Given the description of an element on the screen output the (x, y) to click on. 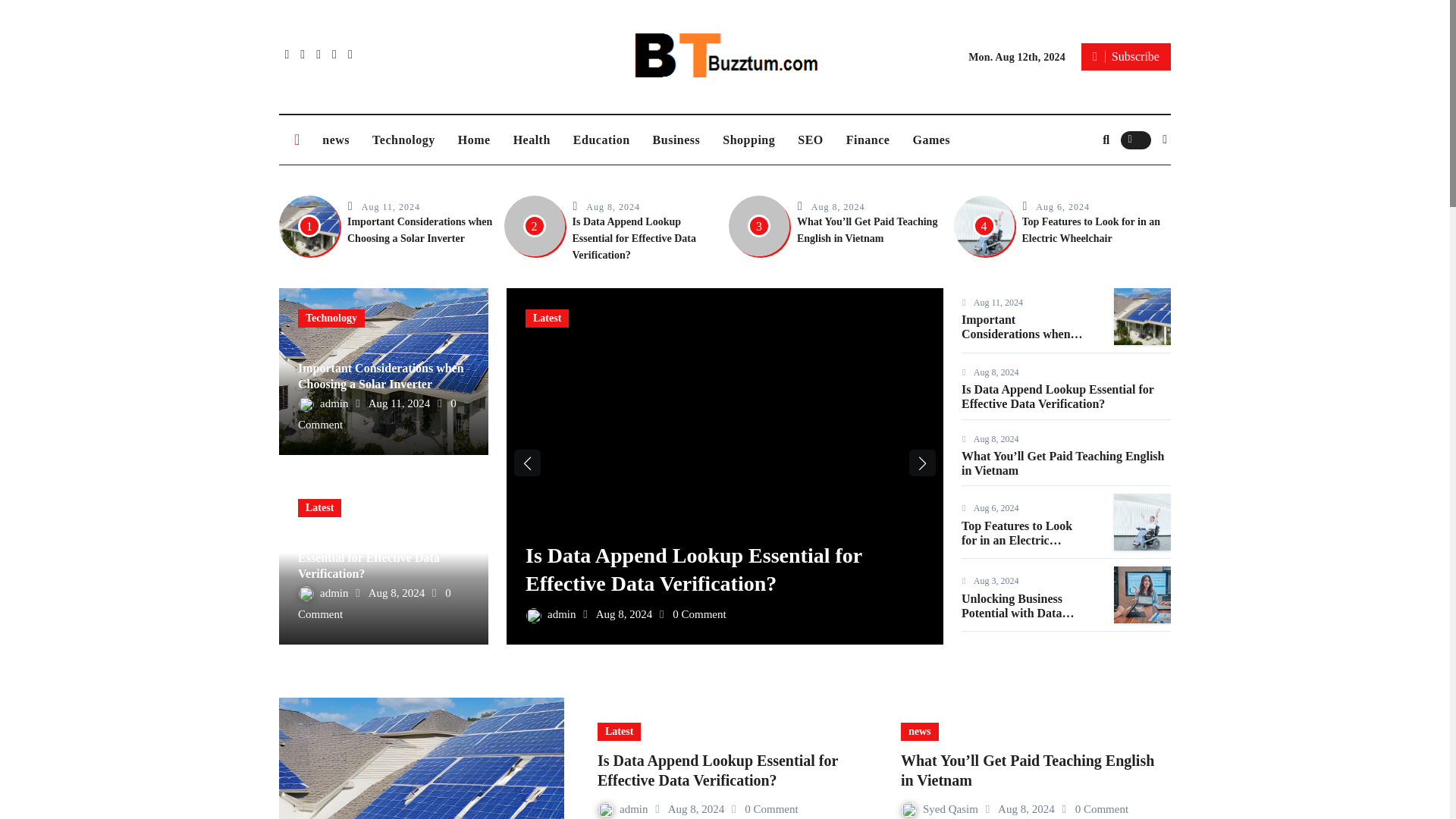
Aug 6, 2024 (1062, 206)
news (336, 139)
Health (532, 139)
Health (532, 139)
Business (676, 139)
Education (602, 139)
Technology (403, 139)
Aug 11, 2024 (390, 206)
Important Considerations when Choosing a Solar Inverter (419, 230)
Shopping (748, 139)
